Given the description of an element on the screen output the (x, y) to click on. 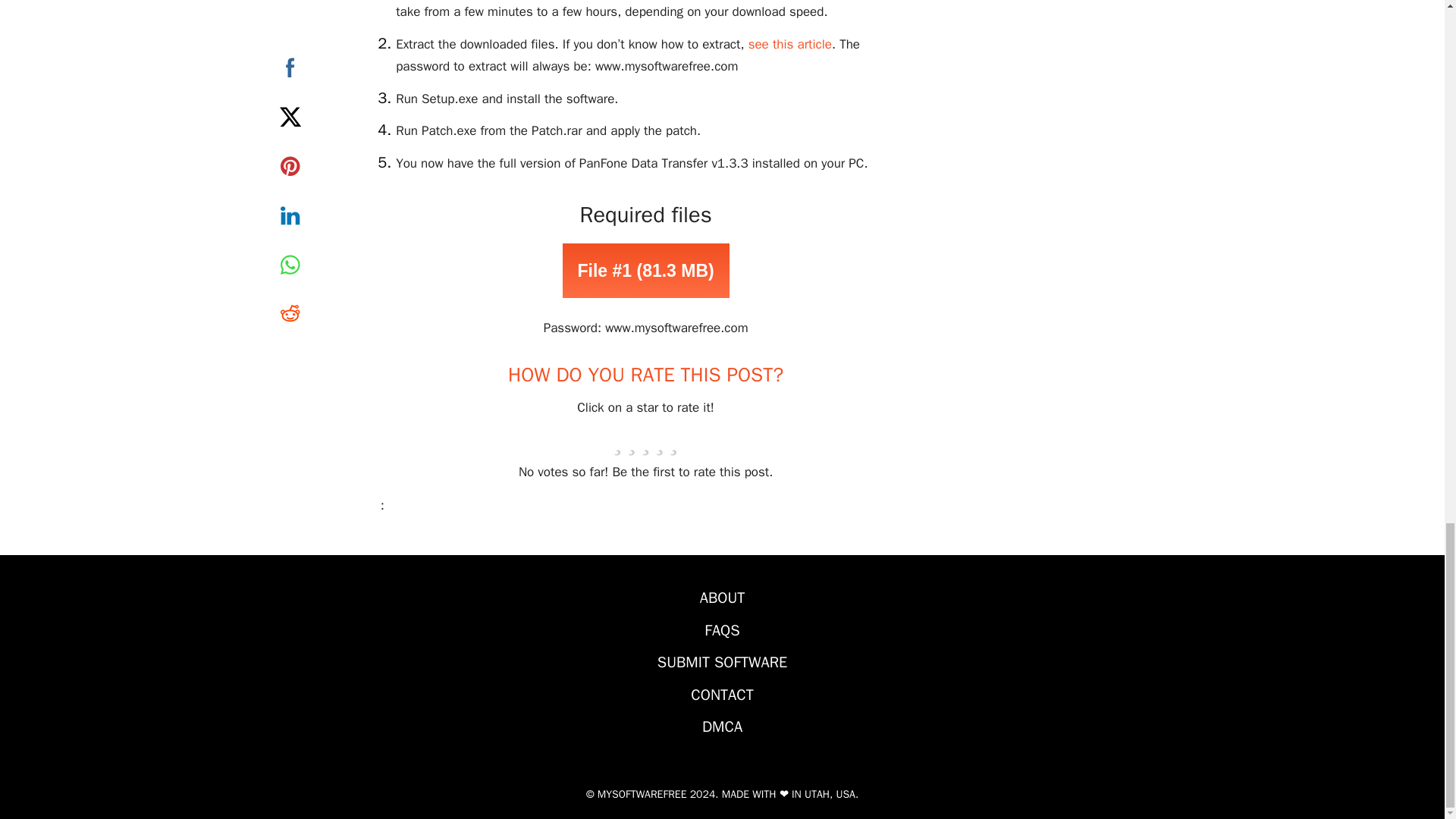
see this article (789, 44)
ABOUT (722, 597)
